Given the description of an element on the screen output the (x, y) to click on. 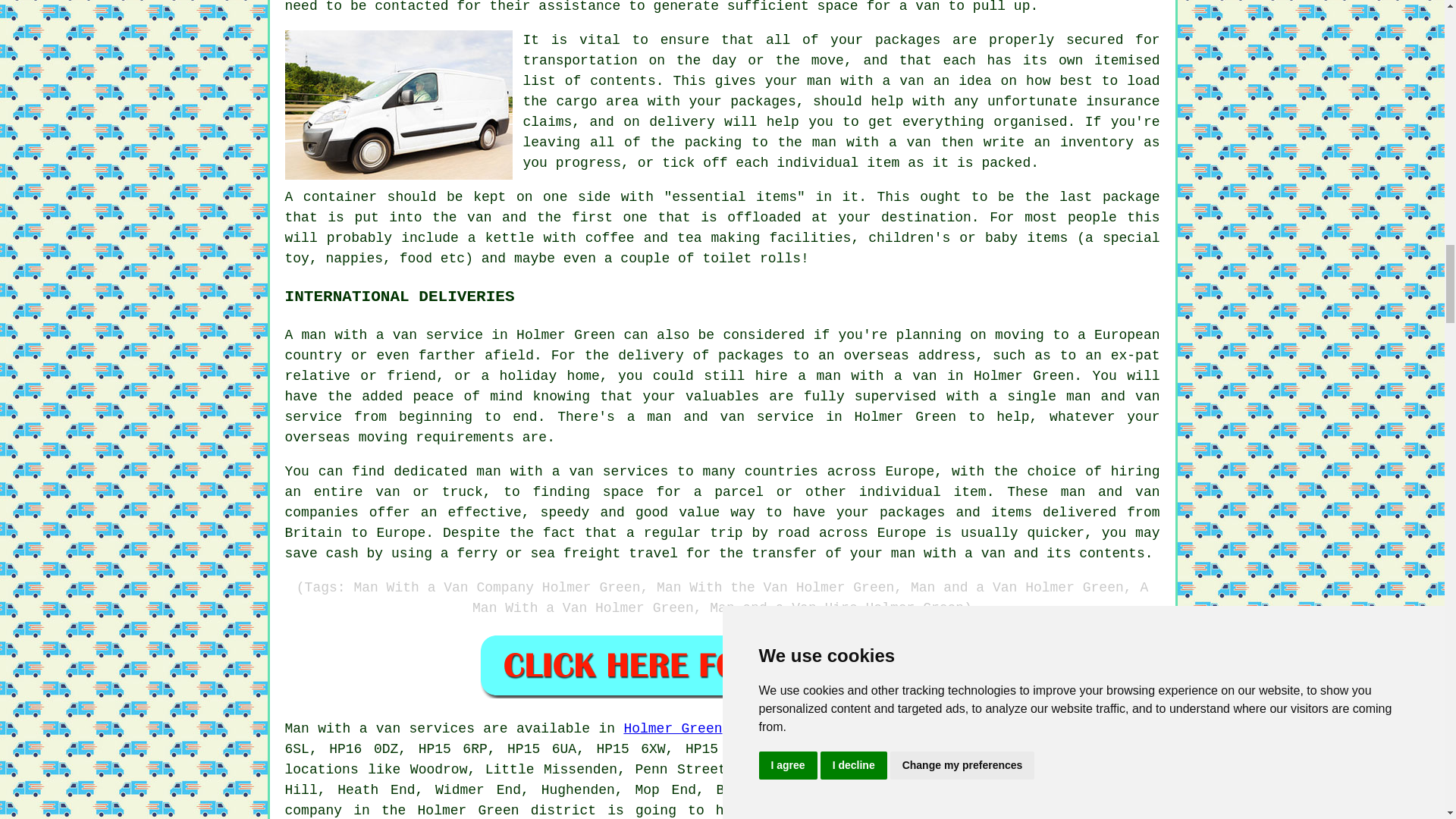
Man with a van (343, 728)
Man and Van Holmer Green (398, 104)
Book a Man and Van Holmer Green (722, 665)
